Given the description of an element on the screen output the (x, y) to click on. 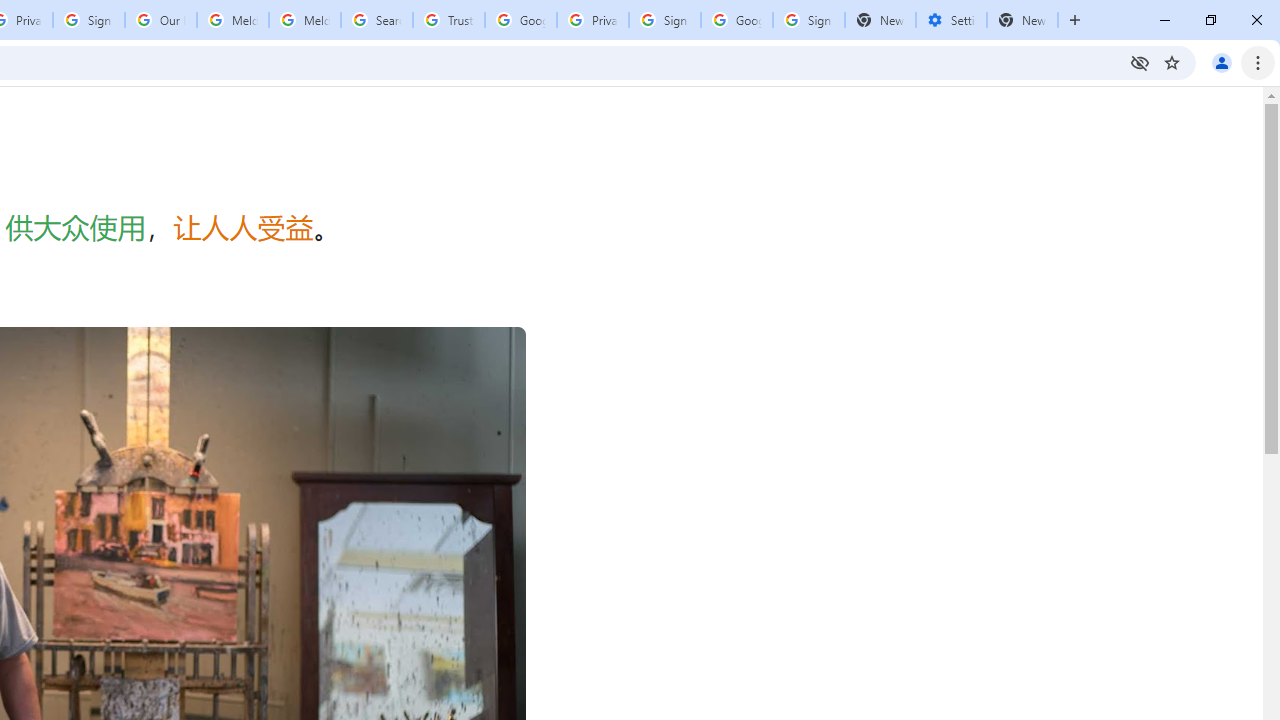
Sign in - Google Accounts (88, 20)
